Given the description of an element on the screen output the (x, y) to click on. 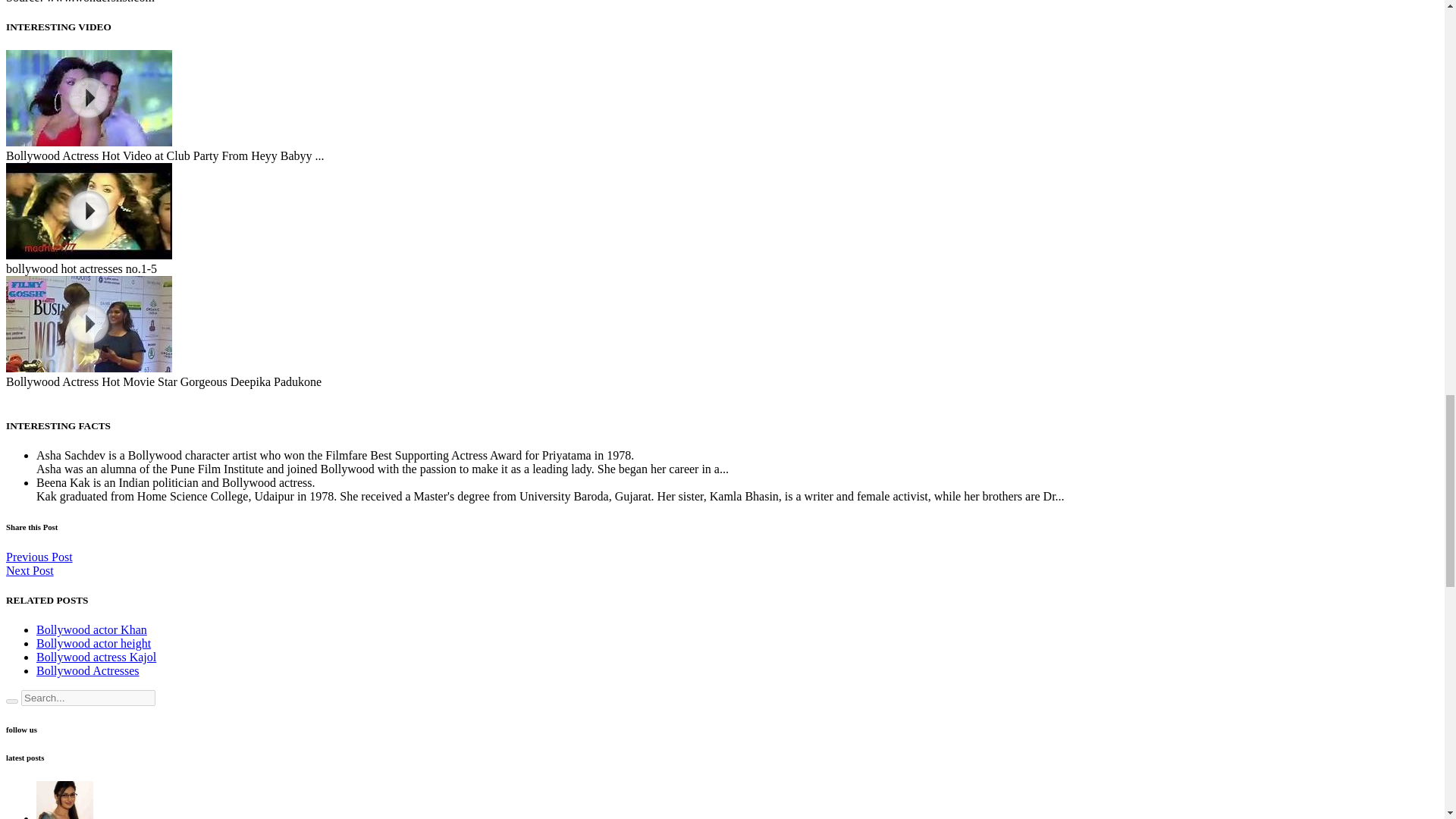
Bollywood Actresses (87, 670)
Bollywood actor Khan (91, 629)
Bollywood actor height (93, 643)
Search (11, 701)
Bollywood actress Kajol (95, 656)
